Given the description of an element on the screen output the (x, y) to click on. 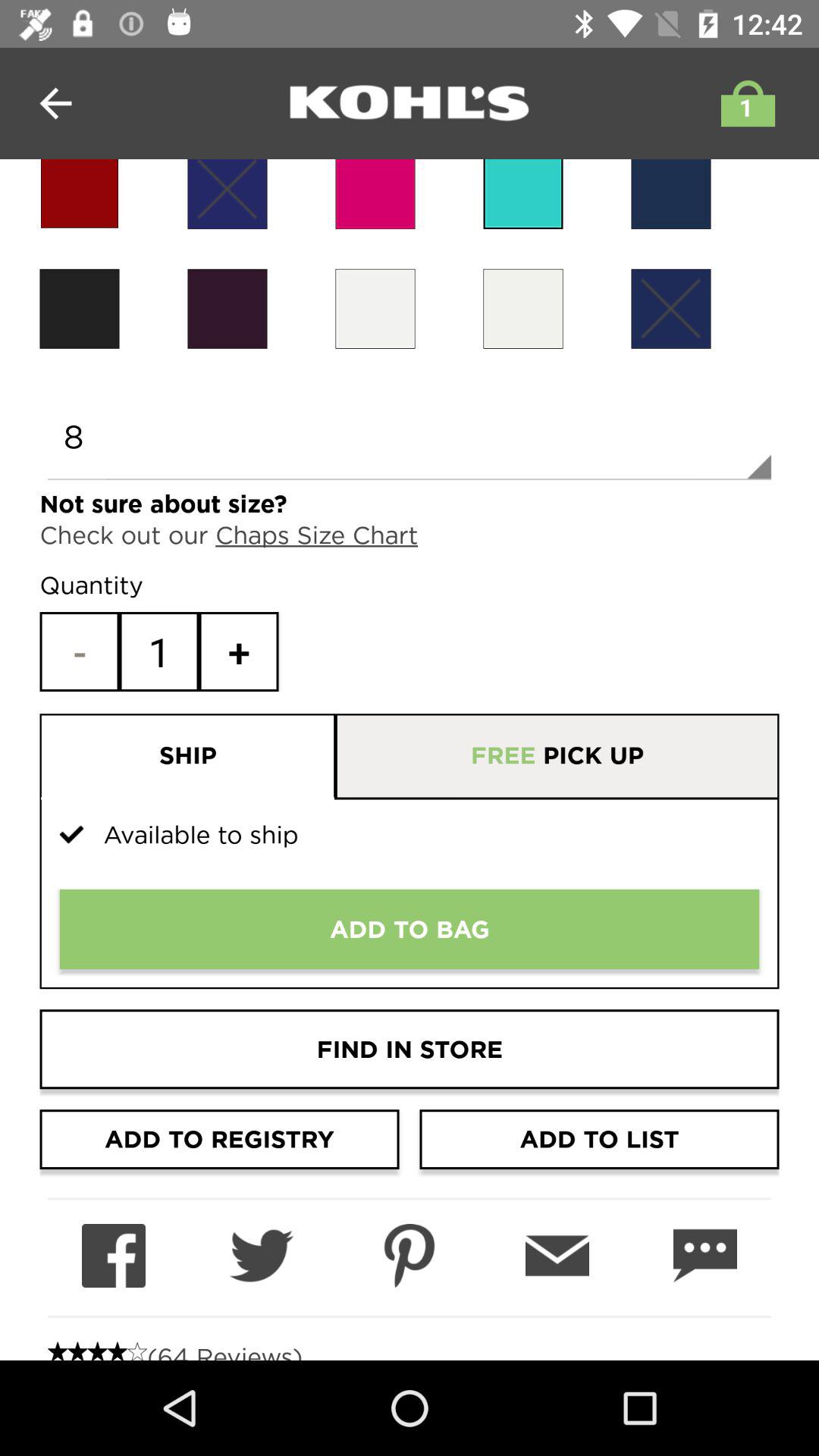
select dark blue (227, 194)
